Given the description of an element on the screen output the (x, y) to click on. 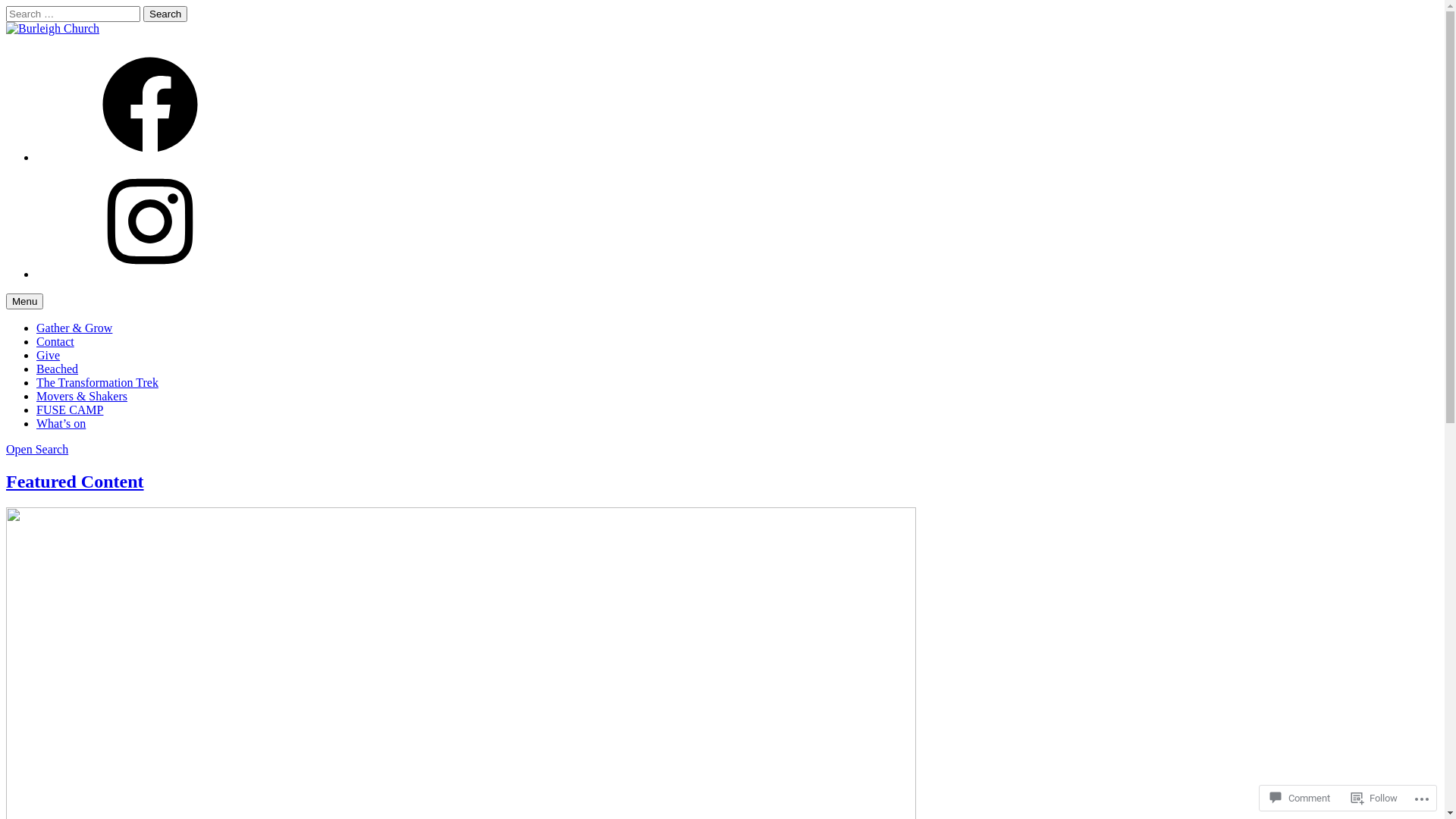
Menu Element type: text (24, 301)
Open Search Element type: text (37, 448)
The Transformation Trek Element type: text (97, 382)
Contact Element type: text (55, 341)
Follow Element type: text (1374, 797)
Follow me on Facebook Element type: text (149, 156)
FUSE CAMP Element type: text (69, 409)
Beached Element type: text (57, 368)
Skip to content Element type: text (5, 5)
Search Element type: text (165, 13)
Follow me on Instagram Element type: text (149, 273)
Give Element type: text (47, 354)
Burleigh Church Element type: text (46, 53)
Comment Element type: text (1300, 797)
Movers & Shakers Element type: text (81, 395)
Featured Content Element type: text (75, 481)
Gather & Grow Element type: text (74, 327)
